Given the description of an element on the screen output the (x, y) to click on. 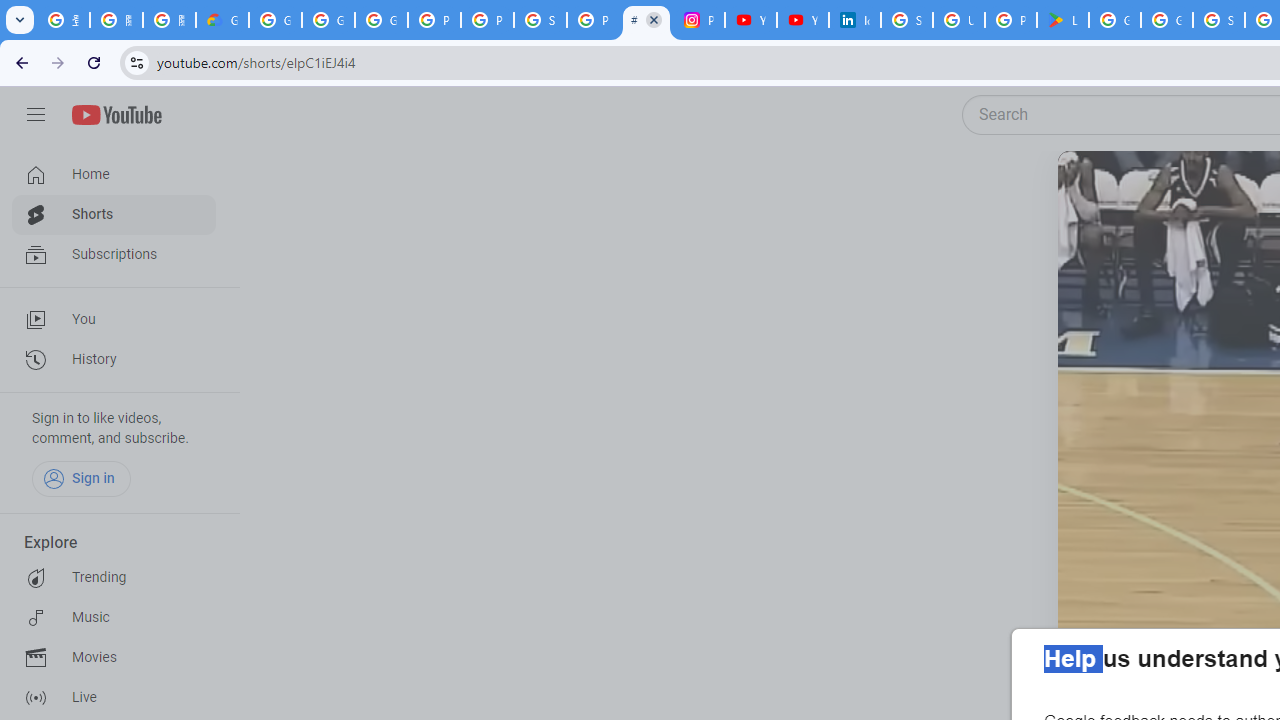
Sign in - Google Accounts (1219, 20)
YouTube Culture & Trends - YouTube Top 10, 2021 (803, 20)
#nbabasketballhighlights - YouTube (646, 20)
Subscriptions (113, 254)
Privacy Help Center - Policies Help (487, 20)
Live (113, 697)
Music (113, 617)
Sign in - Google Accounts (540, 20)
Play (k) (1097, 191)
